Given the description of an element on the screen output the (x, y) to click on. 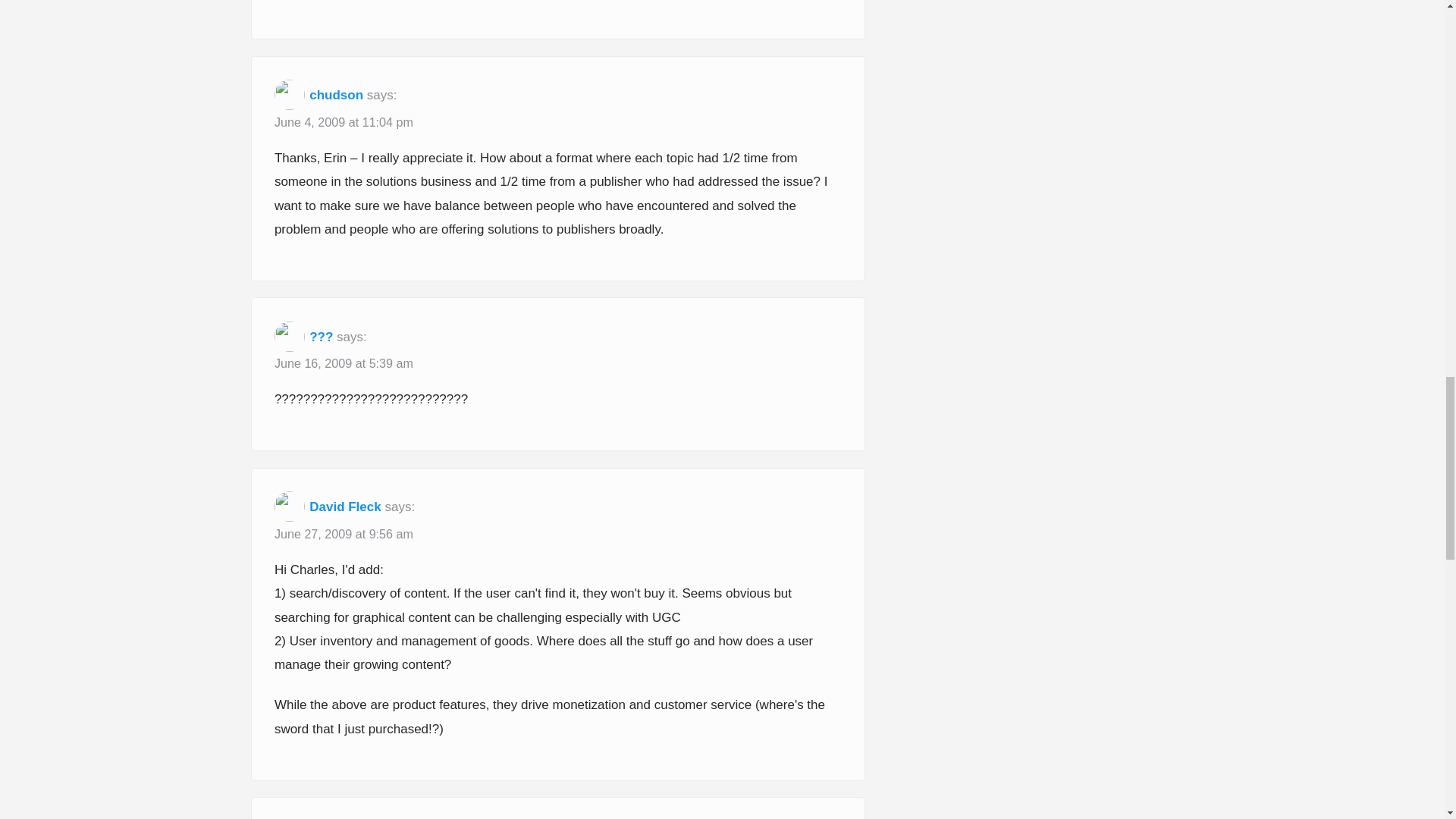
chudson (335, 94)
David Fleck (344, 506)
June 4, 2009 at 11:04 pm (344, 122)
June 27, 2009 at 9:56 am (344, 534)
June 16, 2009 at 5:39 am (344, 363)
??? (320, 336)
